Given the description of an element on the screen output the (x, y) to click on. 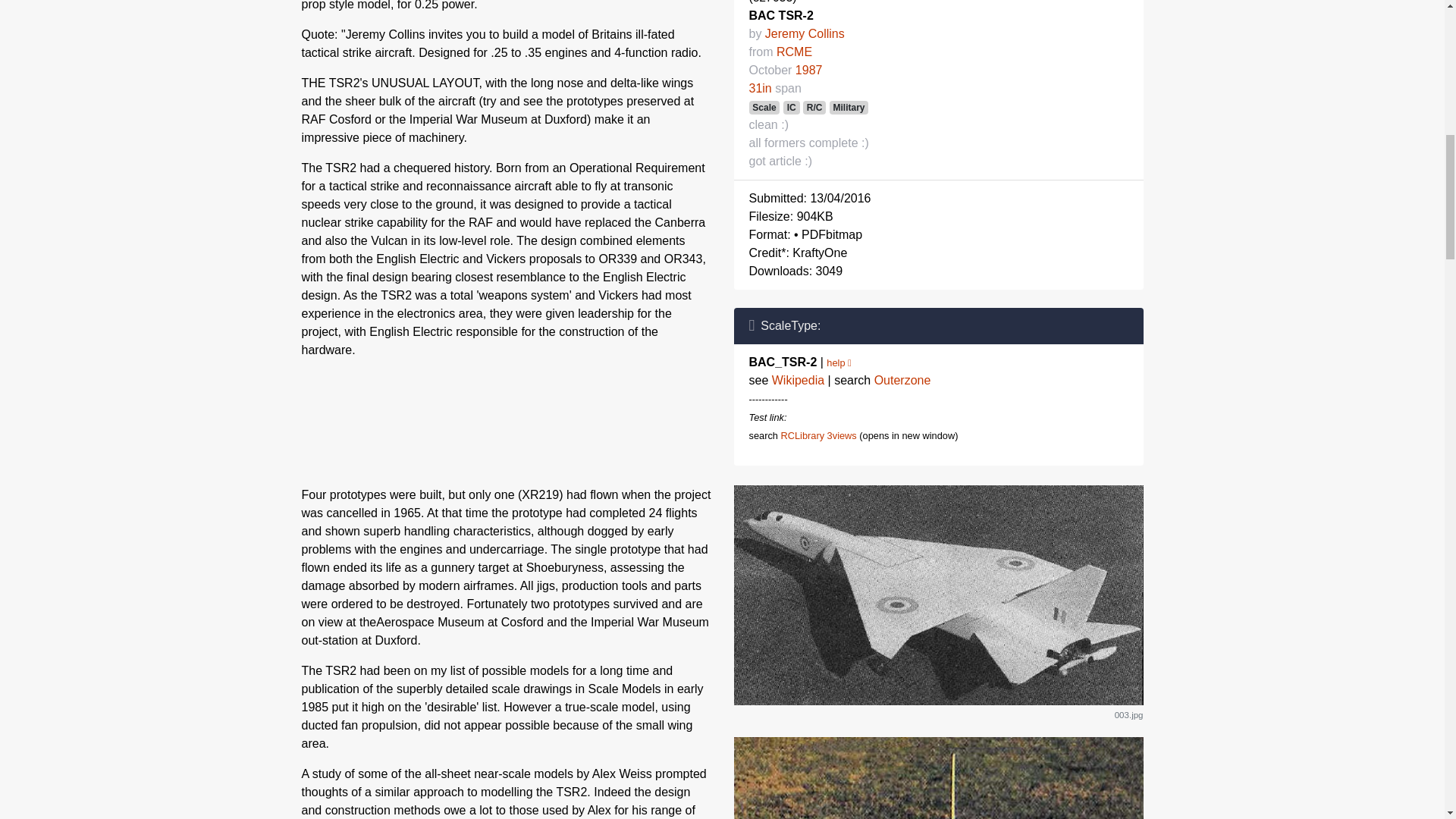
Outerzone (903, 379)
Wikipedia (797, 379)
RCME (794, 51)
1987 (808, 69)
RCLibrary 3views (818, 435)
31in (760, 88)
Jeremy Collins (804, 33)
help (838, 362)
